Given the description of an element on the screen output the (x, y) to click on. 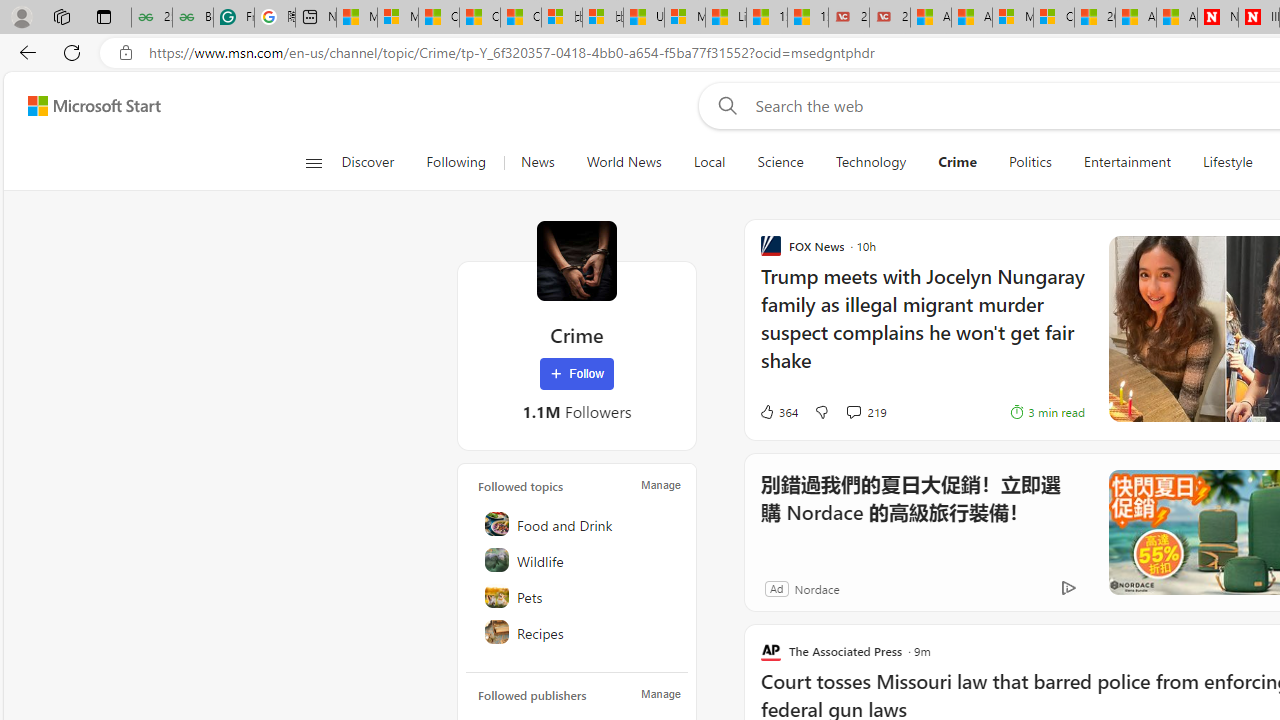
View comments 219 Comment (852, 411)
20 Ways to Boost Your Protein Intake at Every Meal (1094, 17)
Recipes (578, 632)
